Given the description of an element on the screen output the (x, y) to click on. 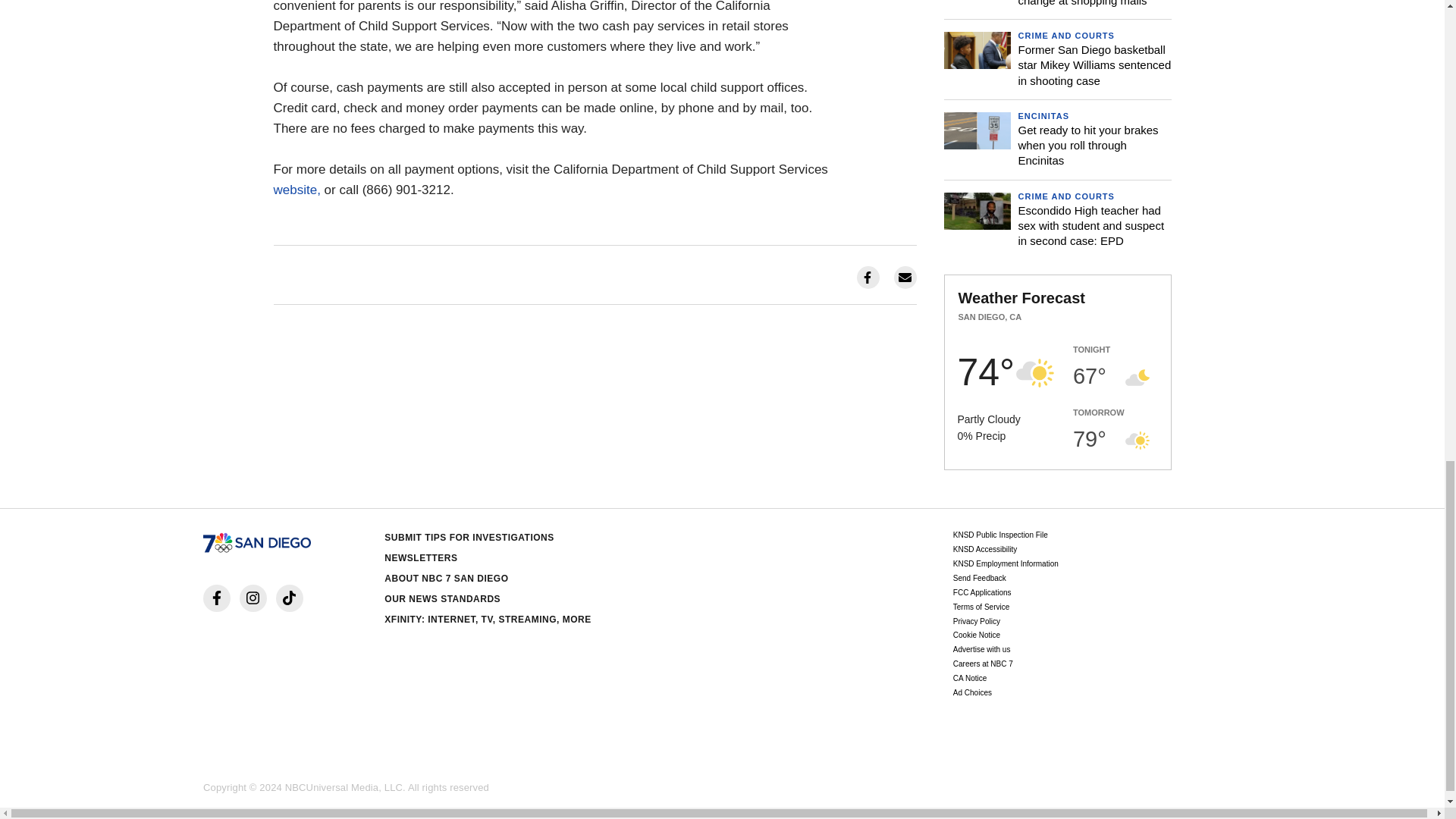
CRIME AND COURTS (1065, 35)
website, (296, 189)
